Given the description of an element on the screen output the (x, y) to click on. 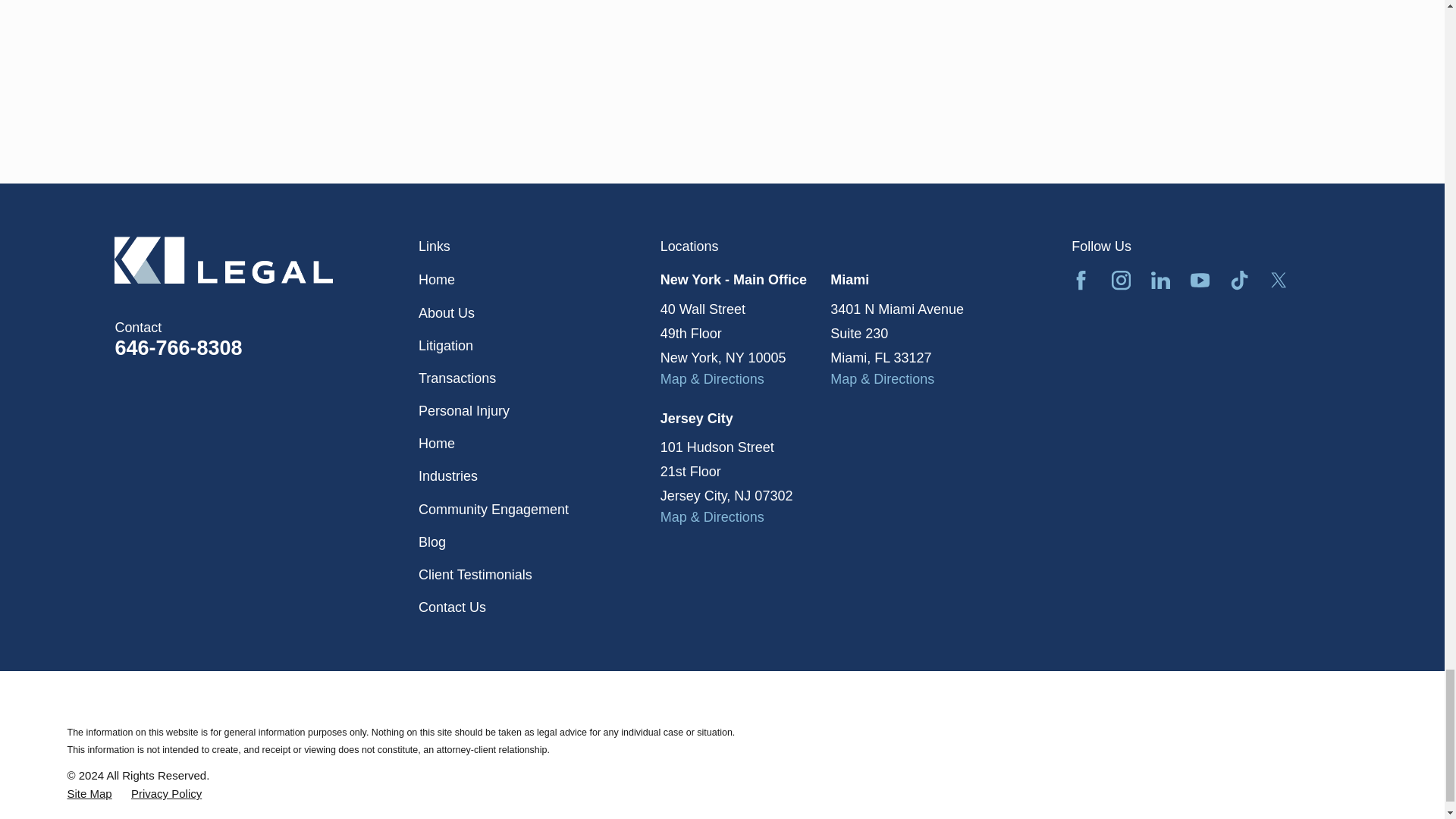
Facebook (1080, 280)
Home (267, 259)
Instagram (1121, 280)
KI Legal (224, 259)
